Given the description of an element on the screen output the (x, y) to click on. 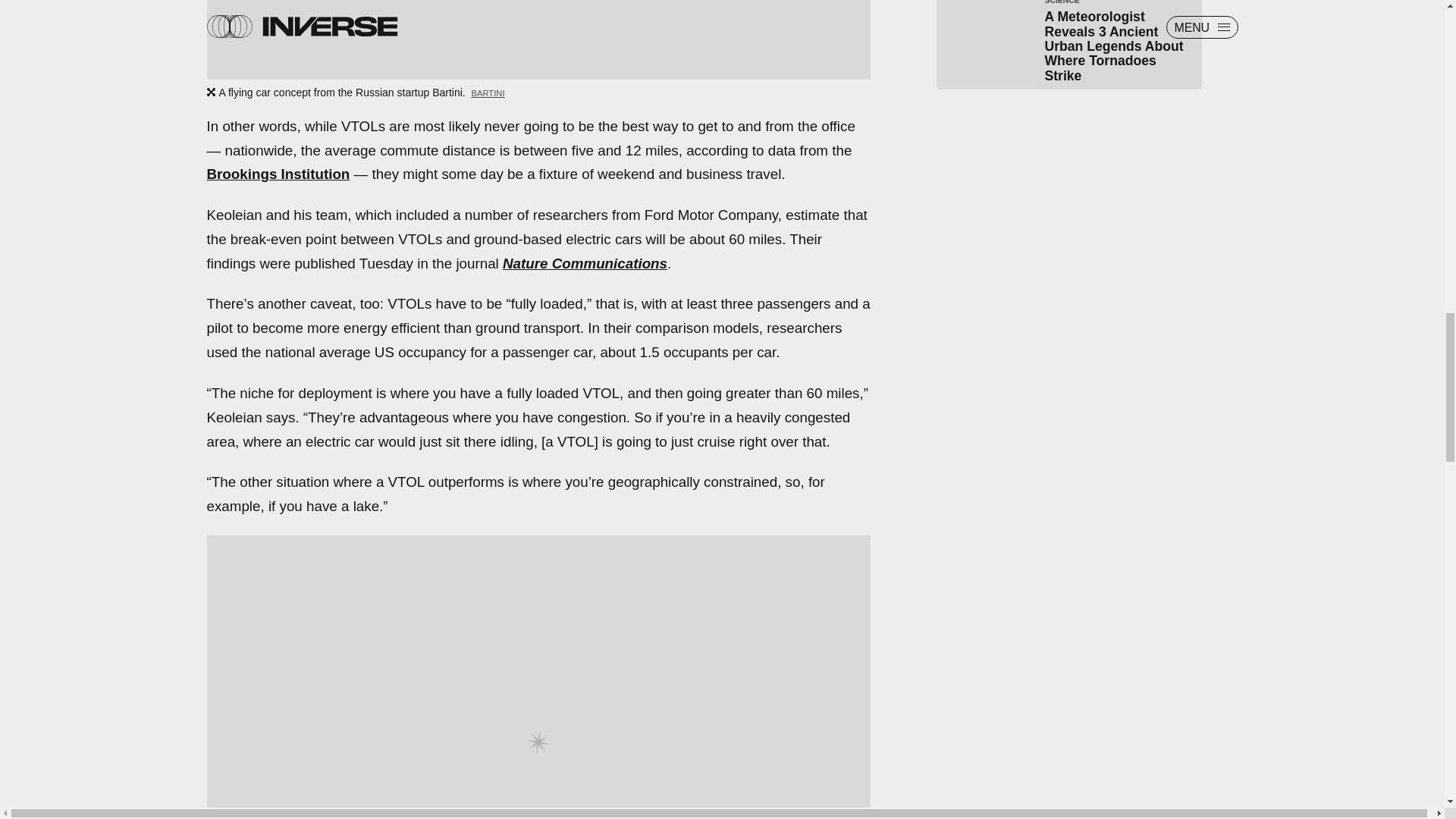
Brookings Institution (277, 173)
BARTINI (488, 92)
Nature Communications (584, 263)
